Given the description of an element on the screen output the (x, y) to click on. 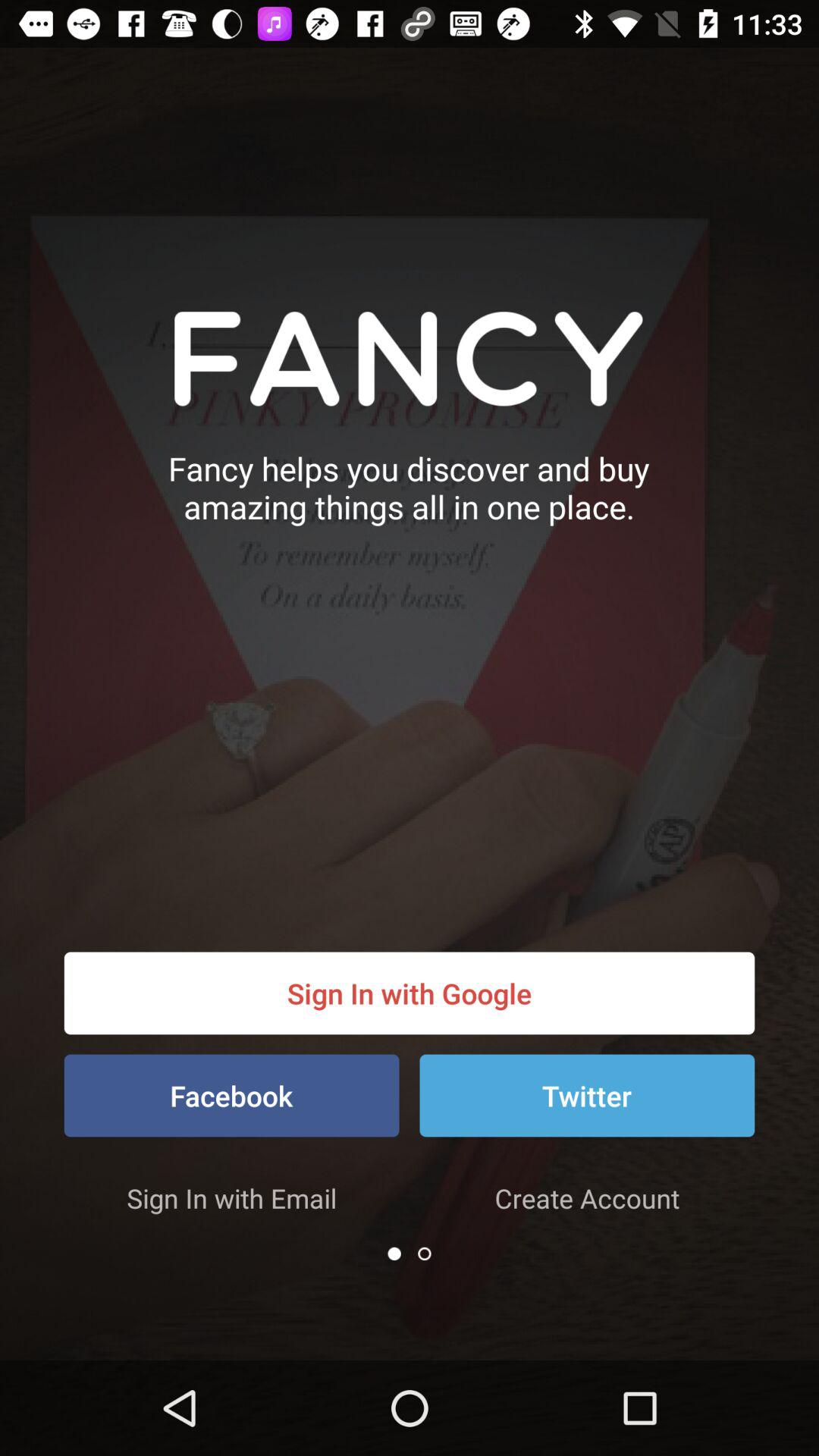
turn off twitter item (586, 1095)
